Given the description of an element on the screen output the (x, y) to click on. 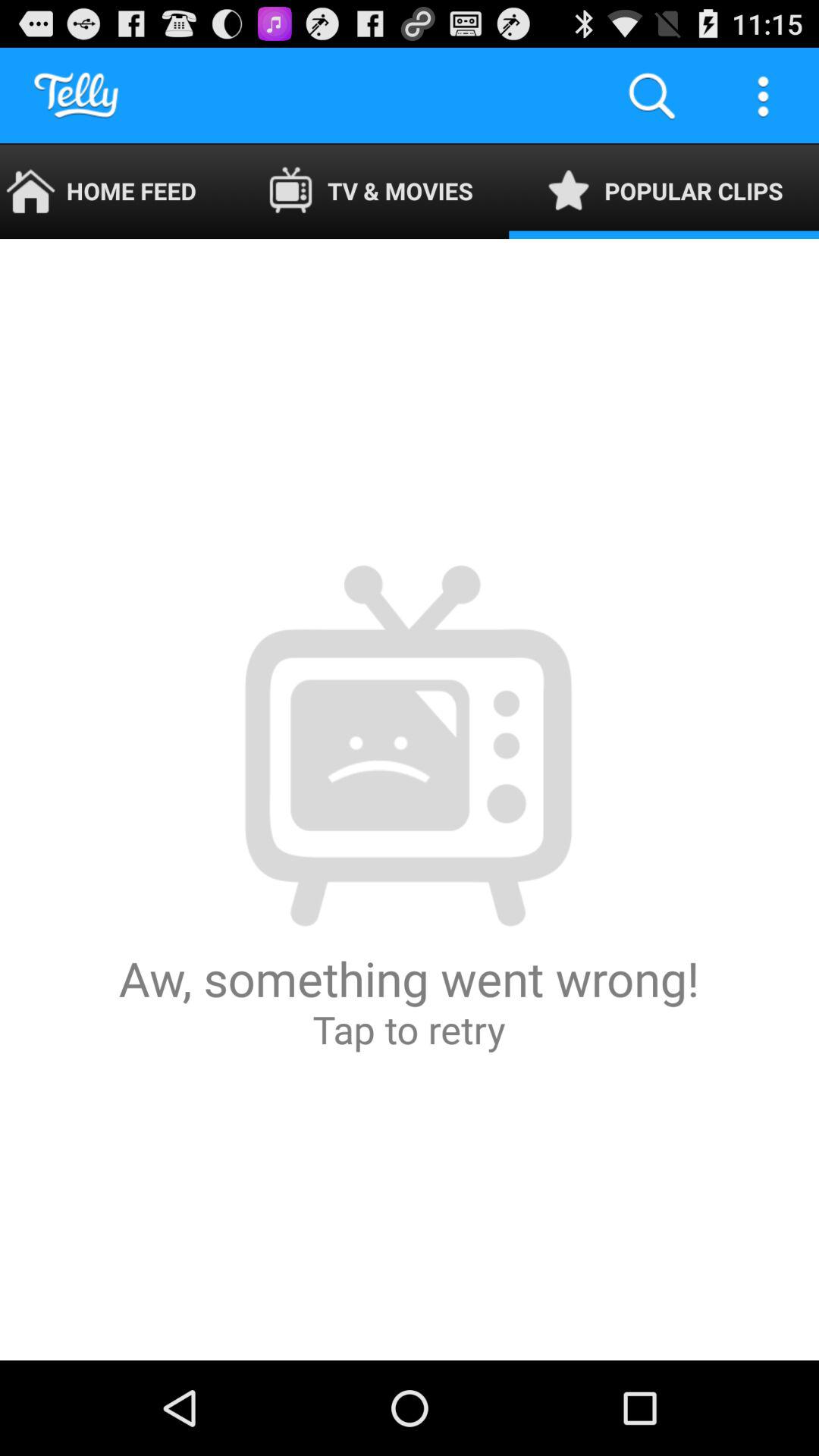
turn on the icon to the right of the home feed item (370, 190)
